Given the description of an element on the screen output the (x, y) to click on. 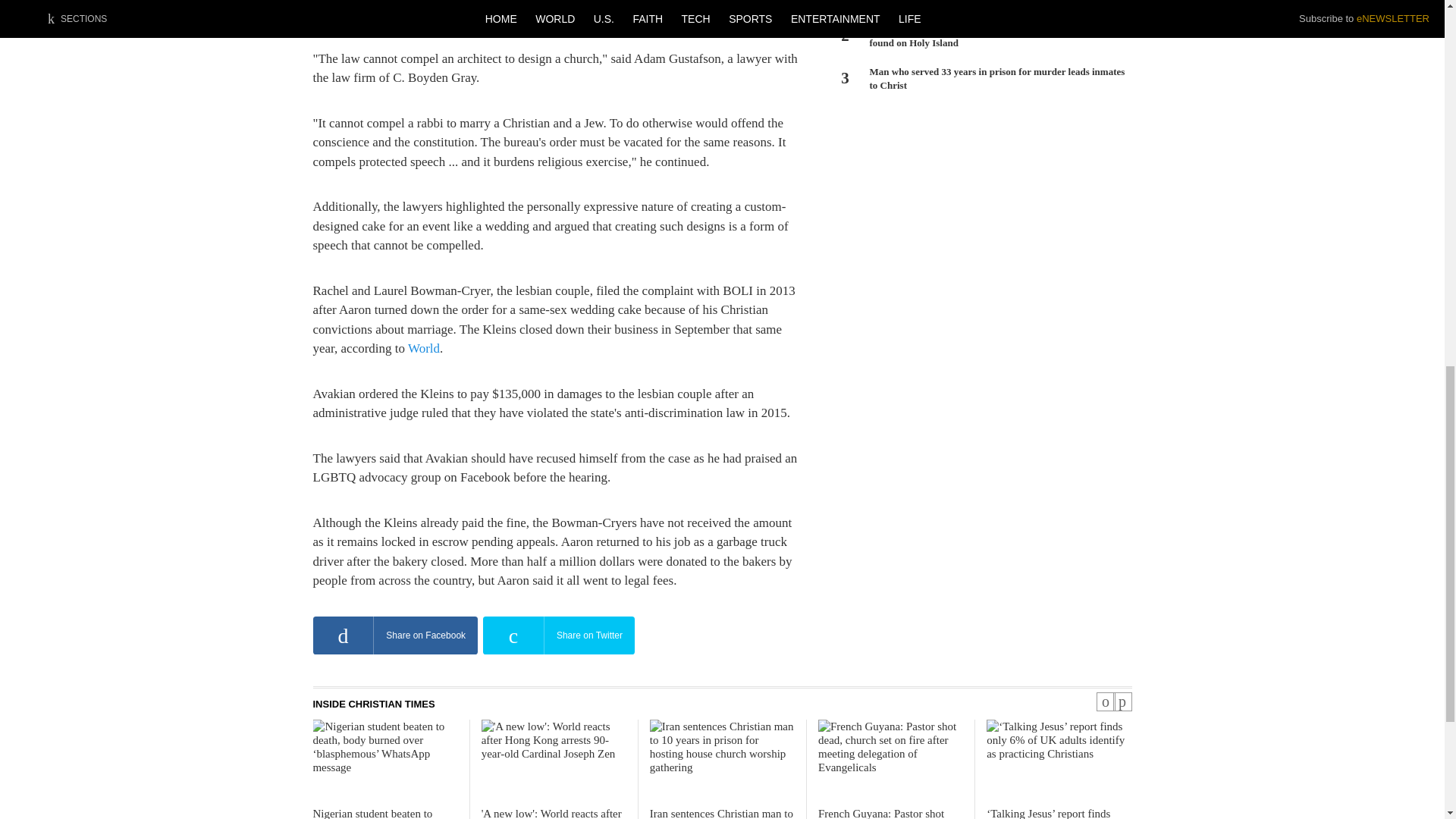
World (423, 348)
Share on Twitter (558, 635)
Share on Facebook (395, 635)
violated (333, 0)
